Given the description of an element on the screen output the (x, y) to click on. 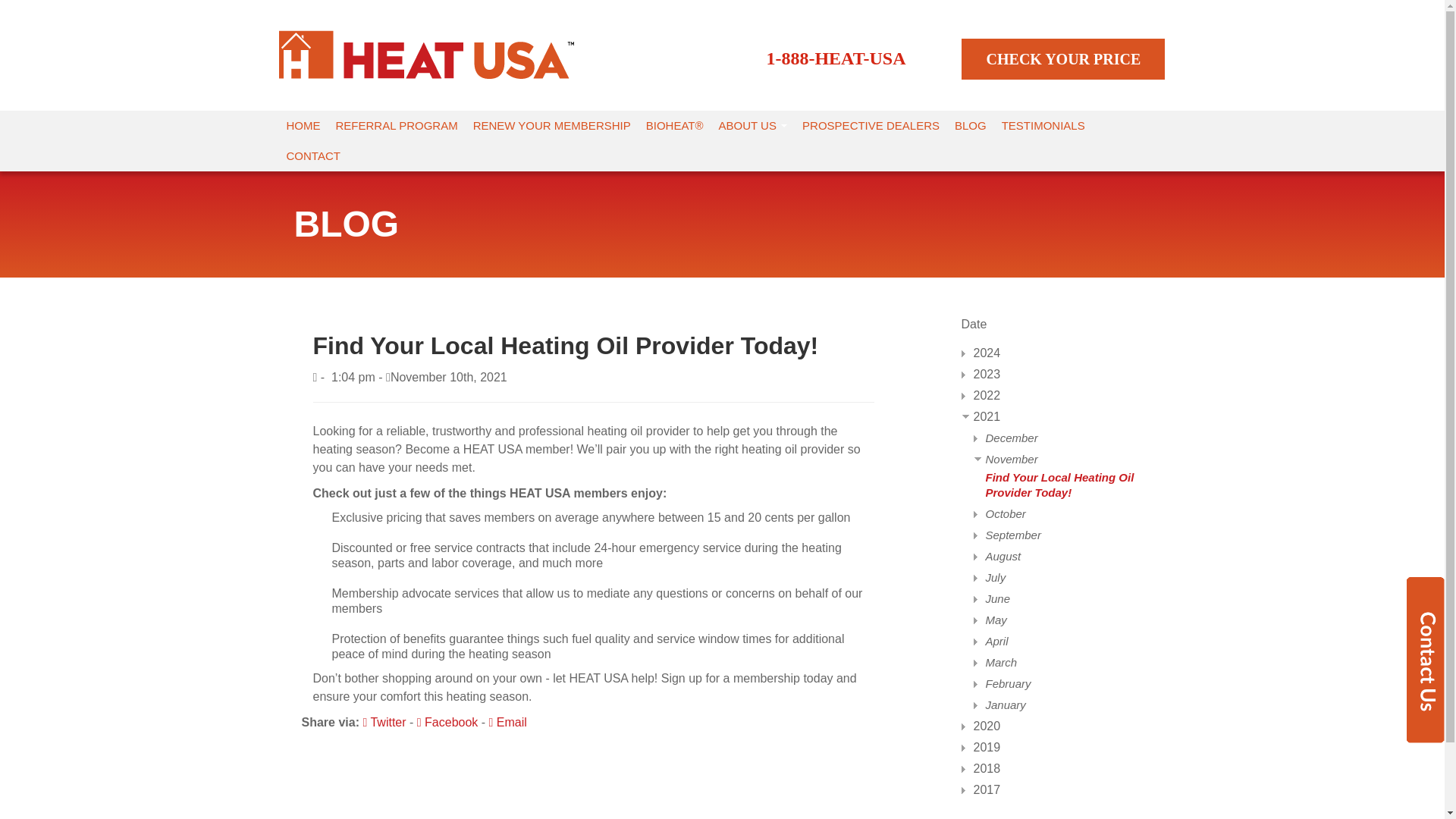
RENEW YOUR MEMBERSHIP (552, 125)
PROSPECTIVE DEALERS (870, 125)
HOME (304, 125)
CHECK YOUR PRICE (1063, 58)
Email (508, 721)
TESTIMONIALS (1043, 125)
Facebook (447, 721)
Twitter (384, 721)
BLOG (970, 125)
CONTACT (313, 155)
